Given the description of an element on the screen output the (x, y) to click on. 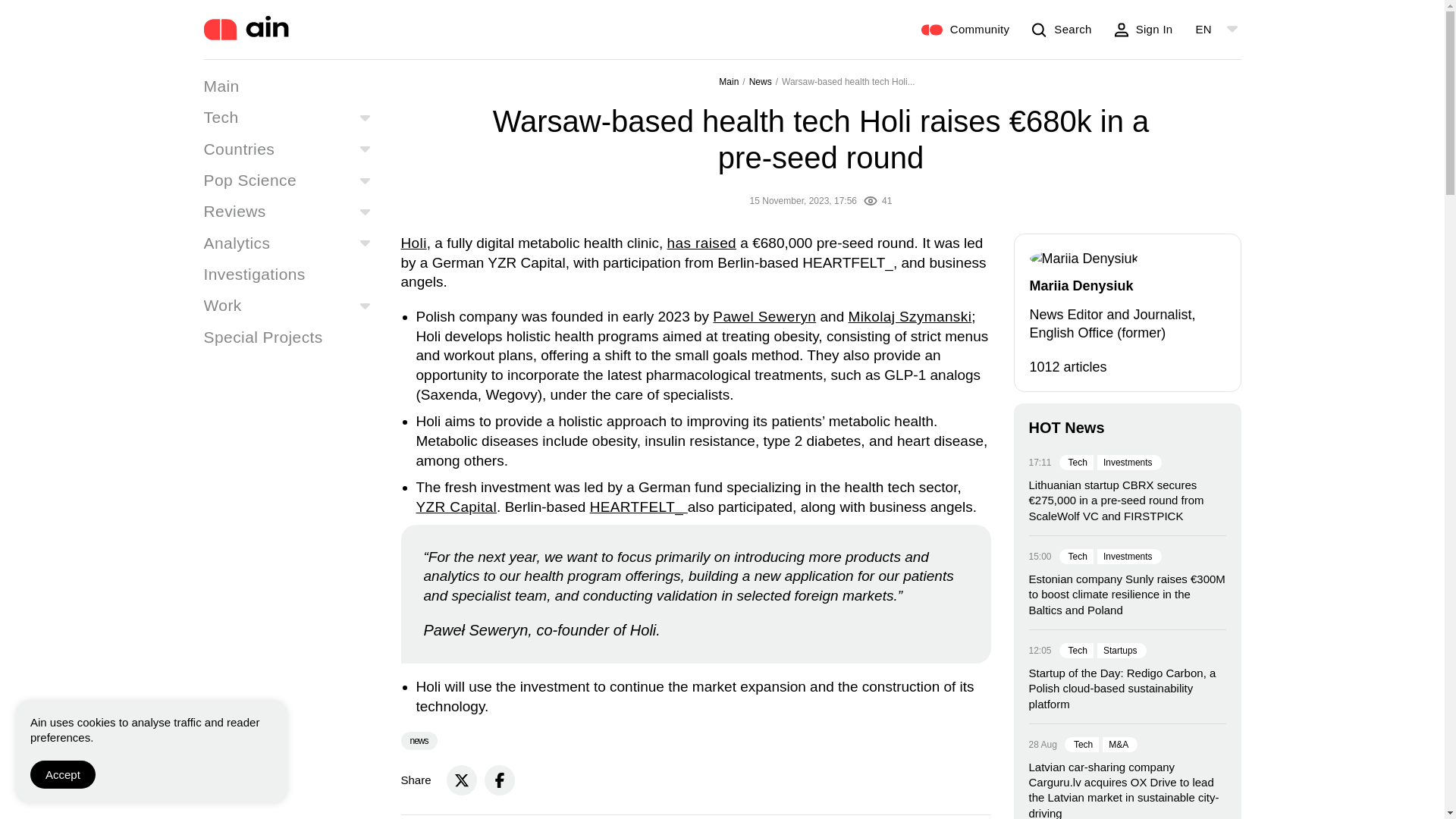
Pop Science (250, 179)
Accept (63, 774)
Sign In (1144, 29)
Tech (220, 117)
Countries (239, 148)
Main (220, 86)
Search (1061, 29)
Mariia Denysiuk (1083, 258)
Community (965, 29)
EN (1207, 29)
